Given the description of an element on the screen output the (x, y) to click on. 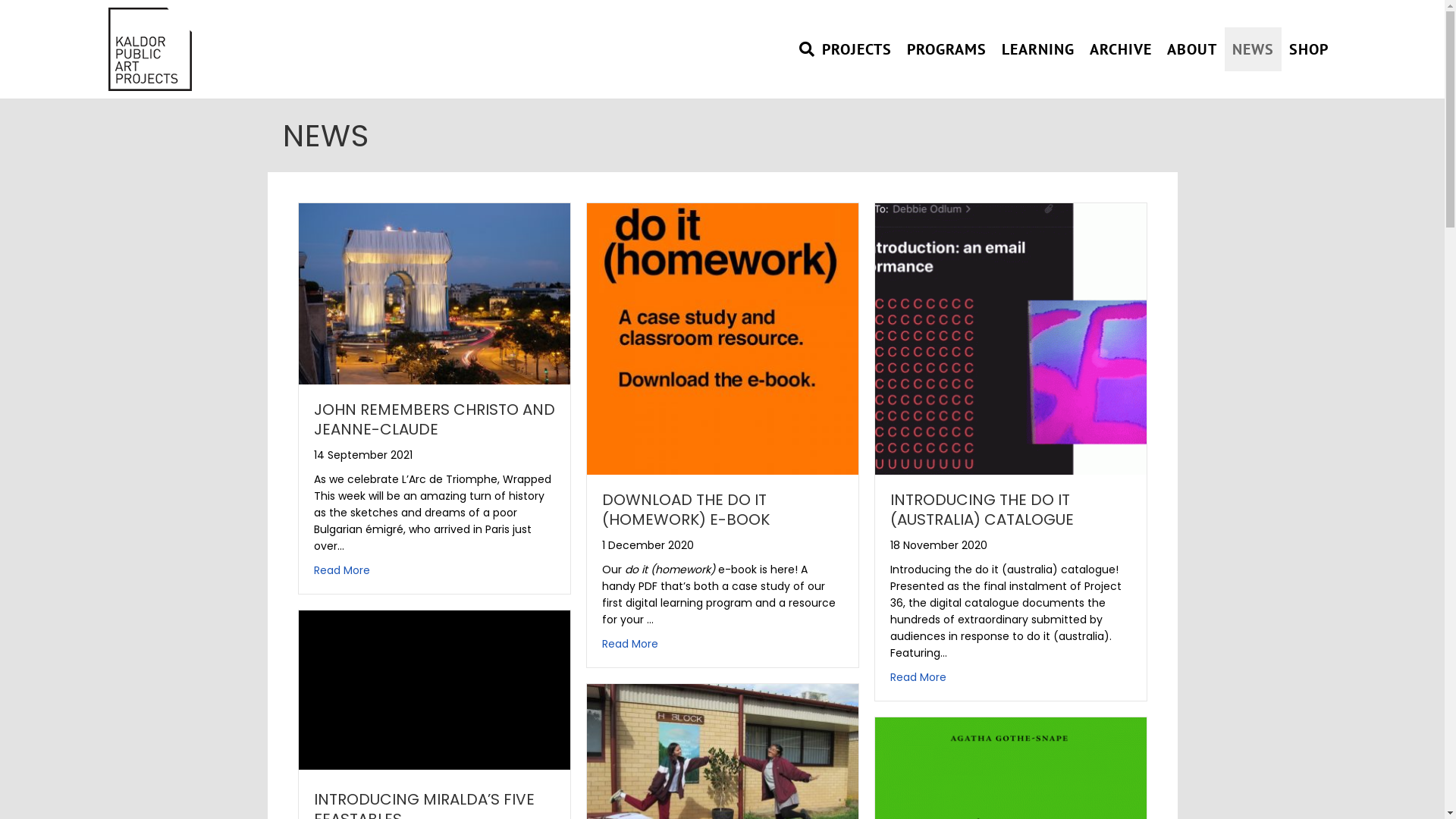
do it (homework): A Platform for Young People to Connect Element type: hover (722, 784)
PROJECTS Element type: text (856, 49)
Download the do it (homework) e-book Element type: hover (722, 337)
Read More Element type: text (630, 643)
John remembers Christo and Jeanne-Claude Element type: hover (434, 292)
ARCHIVE Element type: text (1120, 49)
ABOUT Element type: text (1191, 49)
NEWS Element type: text (1252, 49)
DOWNLOAD THE DO IT (HOMEWORK) E-BOOK Element type: text (685, 509)
LEARNING Element type: text (1038, 49)
PROGRAMS Element type: text (946, 49)
SHOP Element type: text (1308, 49)
Read More Element type: text (341, 569)
INTRODUCING THE DO IT (AUSTRALIA) CATALOGUE Element type: text (981, 509)
Read More Element type: text (918, 676)
JOHN REMEMBERS CHRISTO AND JEANNE-CLAUDE Element type: text (434, 418)
Introducing the do it (australia) catalogue Element type: hover (1010, 337)
Miralda: Five Feastables Element type: hover (434, 689)
